Given the description of an element on the screen output the (x, y) to click on. 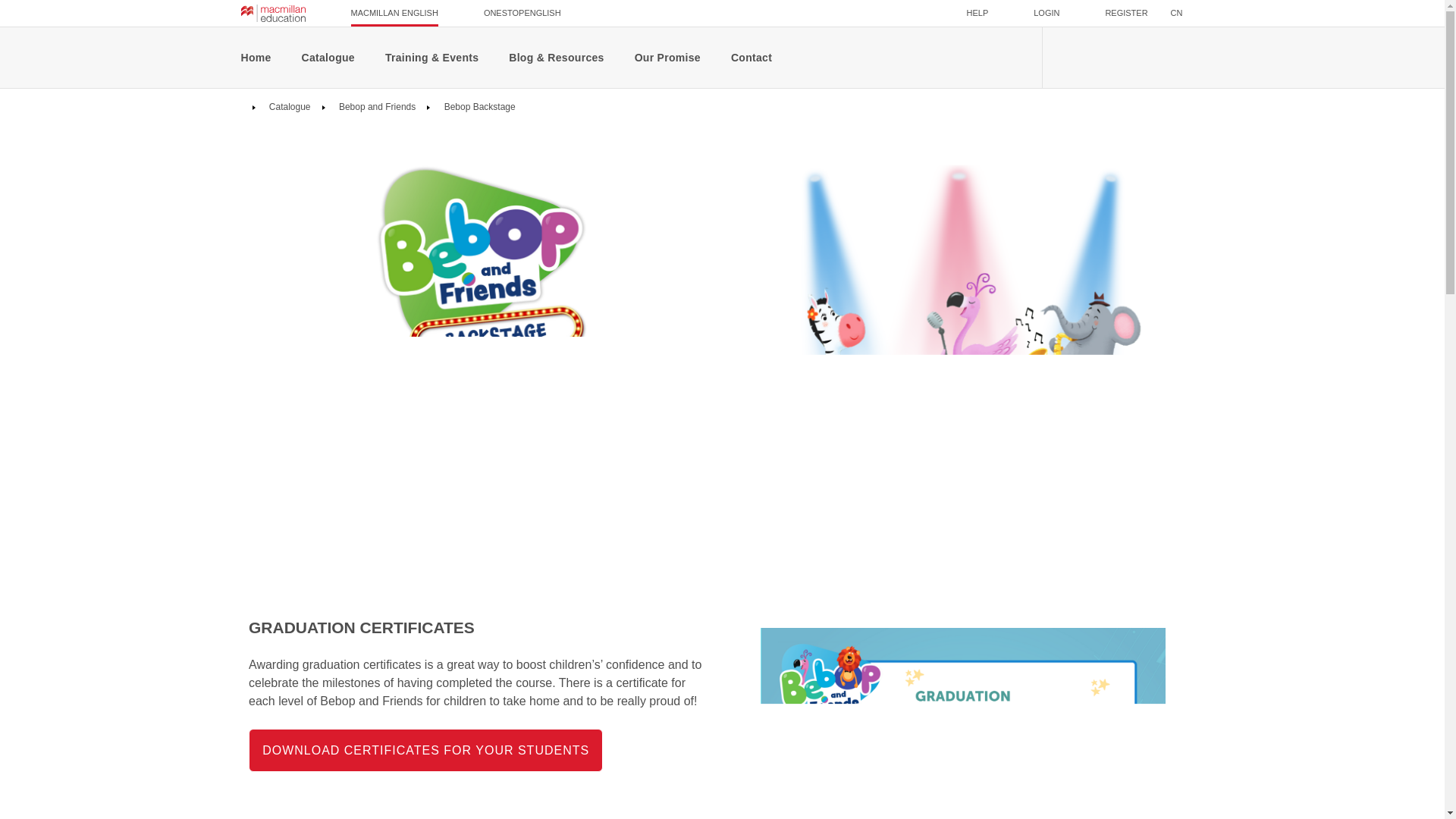
Catalogue (288, 106)
REGISTER (1126, 13)
ONESTOPENGLISH (521, 13)
DOWNLOAD CERTIFICATES FOR YOUR STUDENTS (425, 750)
Our Promise (667, 57)
Bebop and Friends (376, 106)
Bebop Backstage (478, 106)
Bebop and Friends (376, 106)
MACMILLAN ENGLISH (394, 13)
Bebop Backstage (478, 106)
LOGIN (1046, 13)
Catalogue (288, 106)
Macmillan English Home page (273, 12)
